Given the description of an element on the screen output the (x, y) to click on. 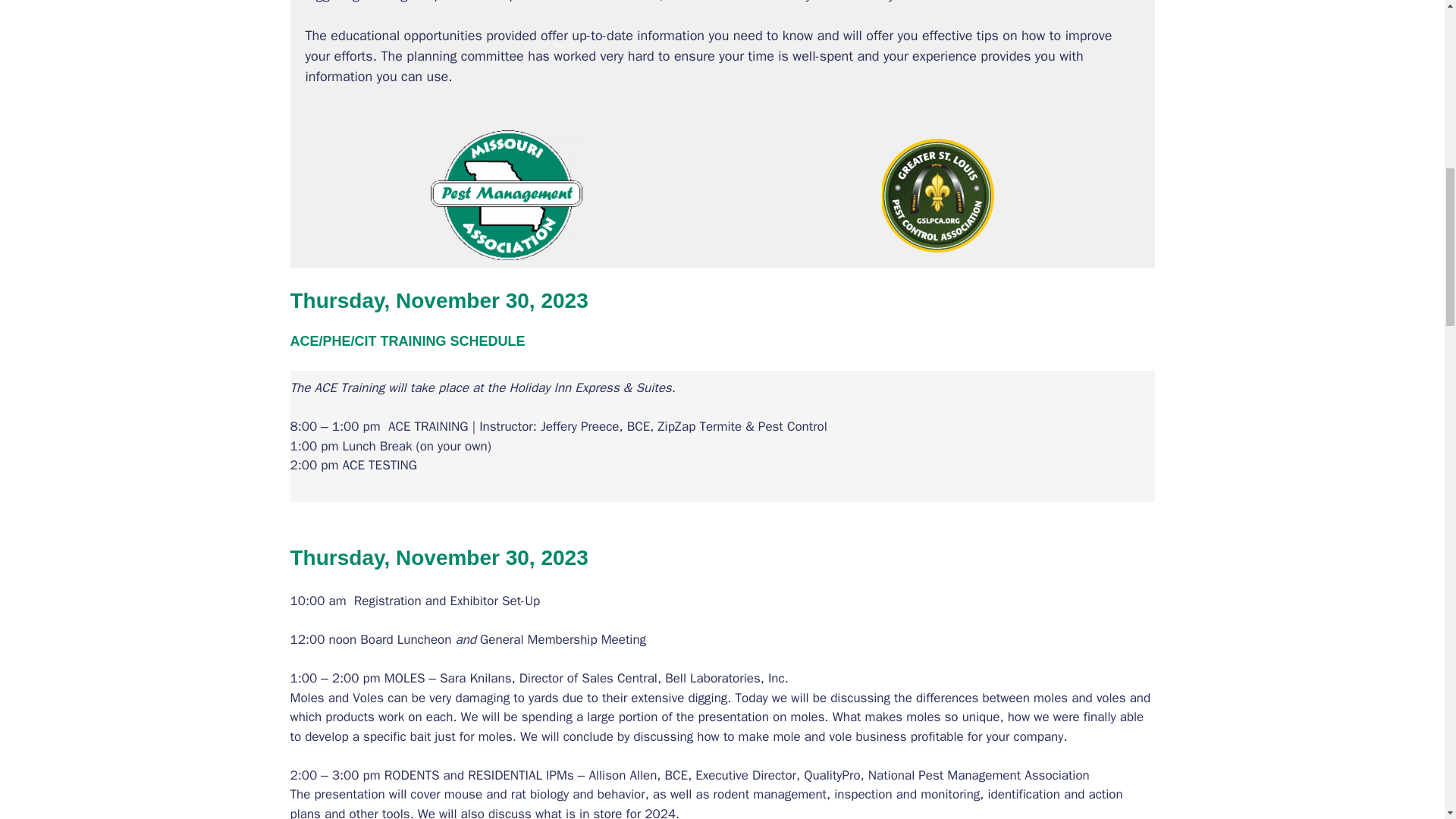
mpma (506, 195)
